Given the description of an element on the screen output the (x, y) to click on. 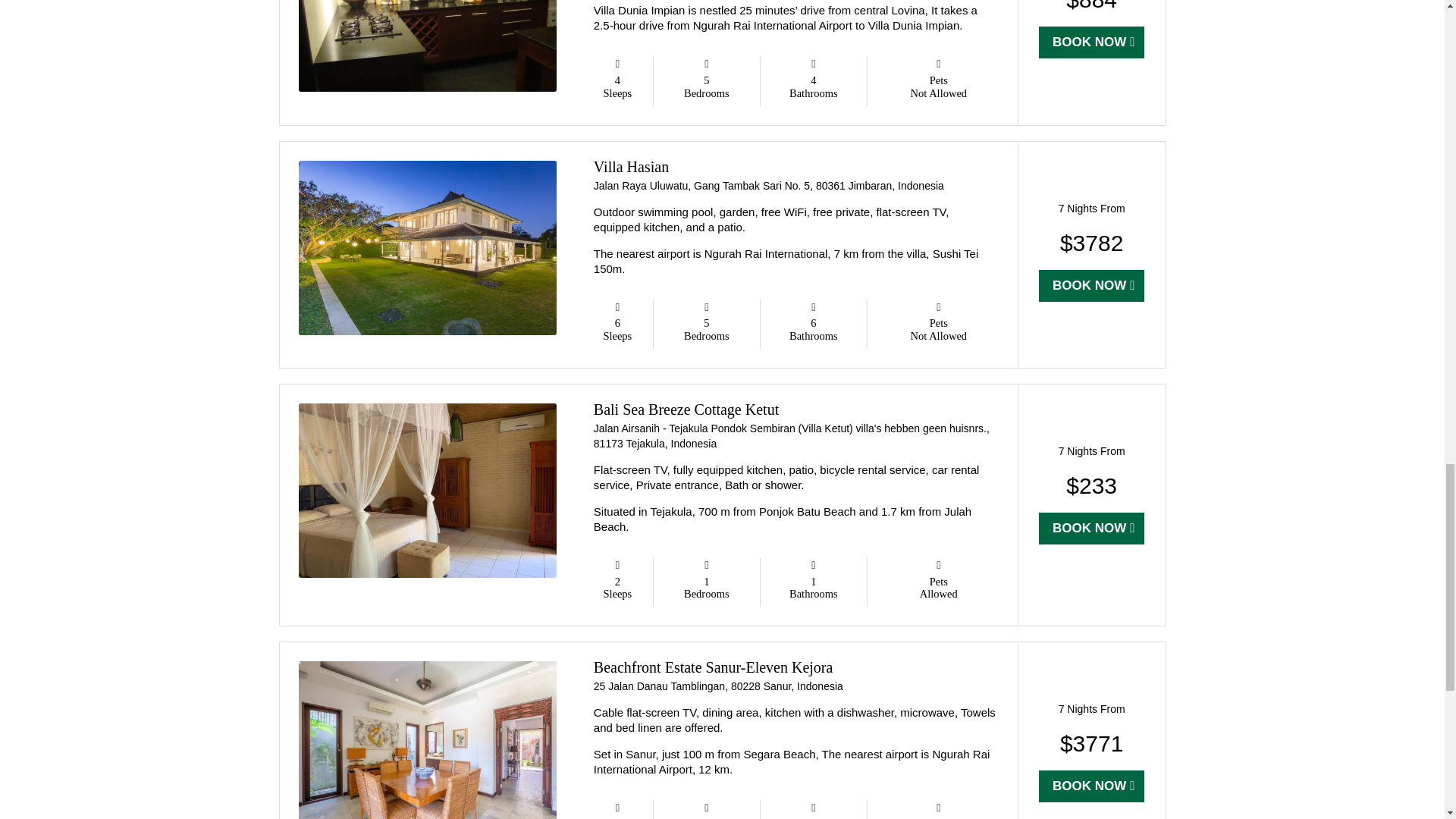
BOOK NOW (1091, 528)
Bali Sea Breeze Cottage Ketut (686, 409)
BOOK NOW (1091, 42)
BOOK NOW (1091, 286)
BOOK NOW (1091, 786)
Villa Hasian (631, 166)
Beachfront Estate Sanur-Eleven Kejora (713, 667)
